Given the description of an element on the screen output the (x, y) to click on. 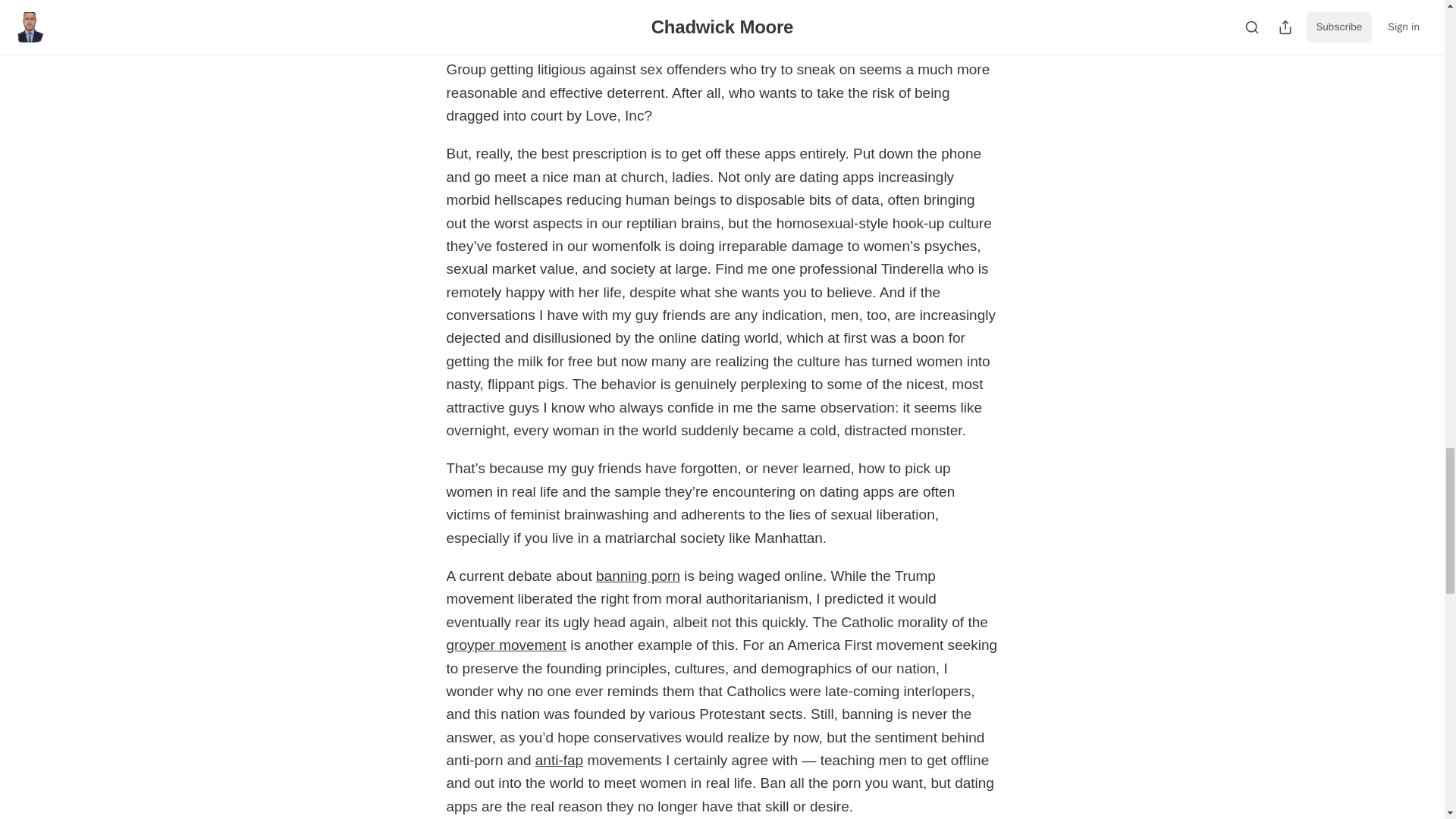
anti-fap (559, 760)
banning porn (637, 575)
groyper movement (505, 644)
